Given the description of an element on the screen output the (x, y) to click on. 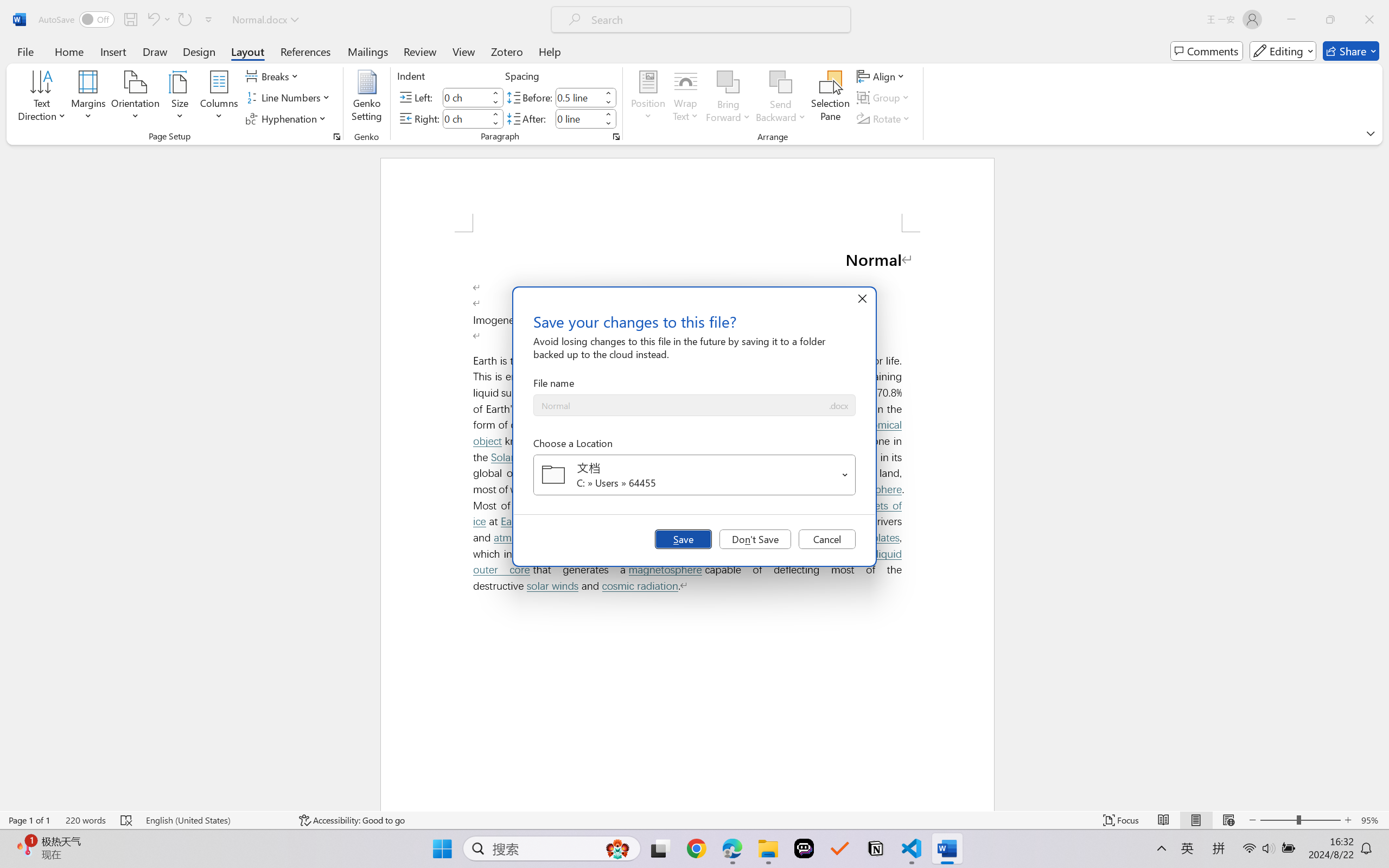
Hyphenation (287, 118)
Line Numbers (289, 97)
